Given the description of an element on the screen output the (x, y) to click on. 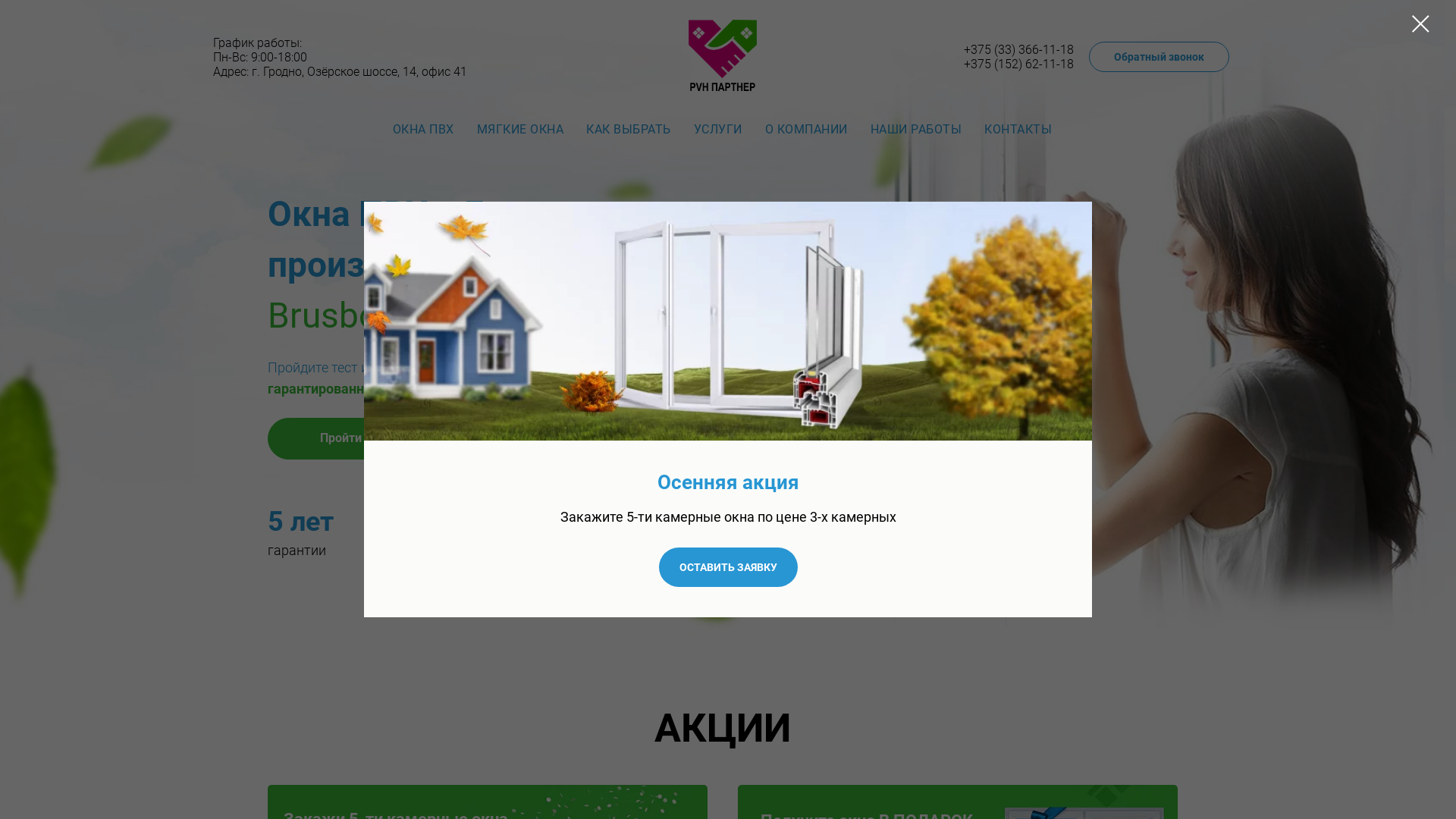
+375 (33) 366-11-18 Element type: text (1018, 49)
+375 (152) 62-11-18 Element type: text (1018, 63)
